Given the description of an element on the screen output the (x, y) to click on. 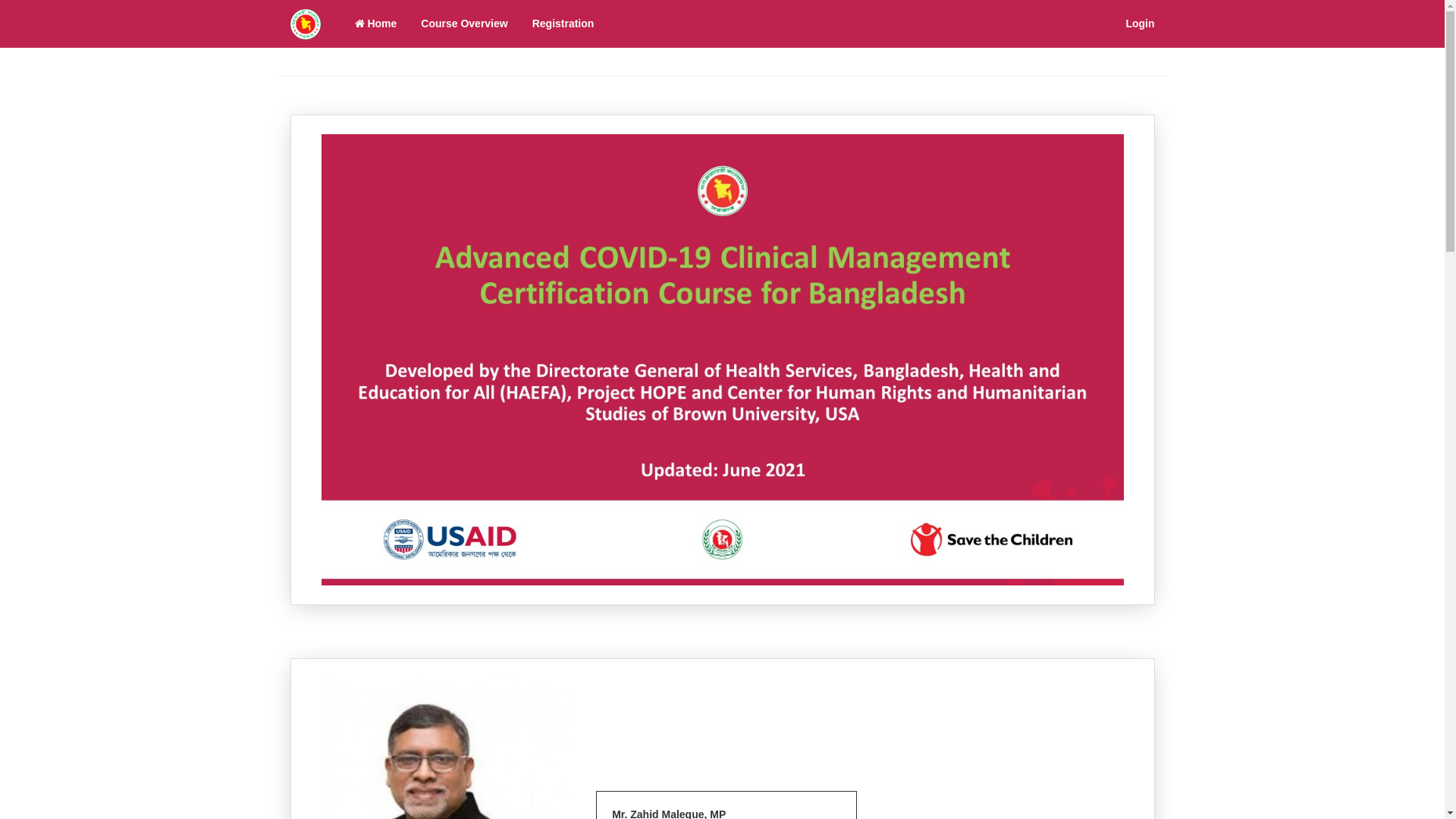
Login Element type: text (1139, 22)
Home Element type: text (374, 22)
Registration Element type: text (562, 22)
Course Overview Element type: text (463, 22)
